Given the description of an element on the screen output the (x, y) to click on. 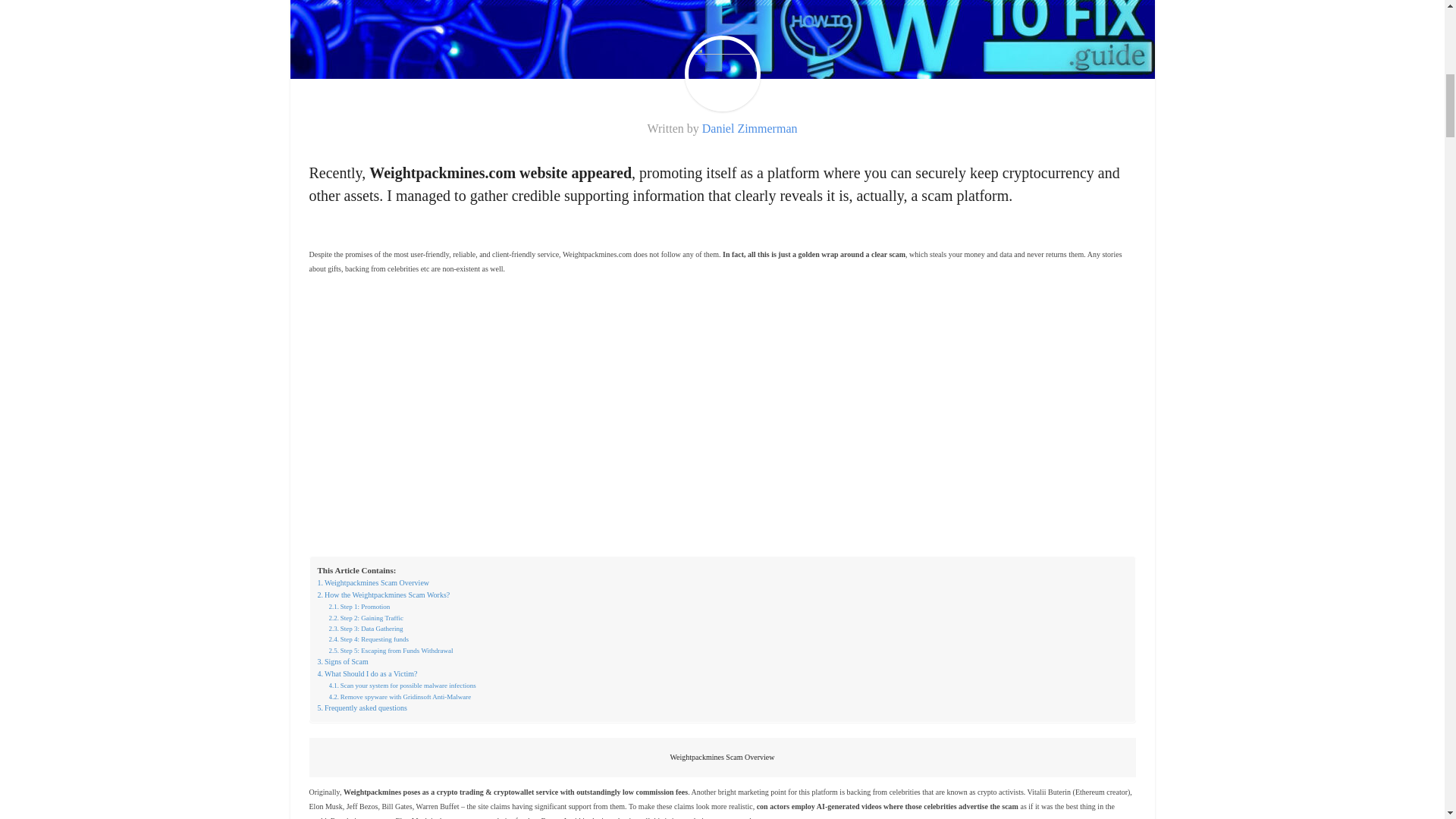
Daniel Zimmerman (749, 128)
How the Weightpackmines Scam Works? (383, 594)
Step 4: Requesting funds (369, 638)
Step 4: Requesting funds (369, 638)
Step 1: Promotion (359, 606)
Step 3: Data Gathering (366, 628)
Frequently asked questions (361, 707)
Step 5: Escaping from Funds Withdrawal (390, 650)
Step 2: Gaining Traffic (366, 617)
Signs of Scam (342, 662)
Scan your system for possible malware infections (402, 685)
Step 2: Gaining Traffic (366, 617)
Step 3: Data Gathering (366, 628)
Step 5: Escaping from Funds Withdrawal (390, 650)
Step 1: Promotion (359, 606)
